Given the description of an element on the screen output the (x, y) to click on. 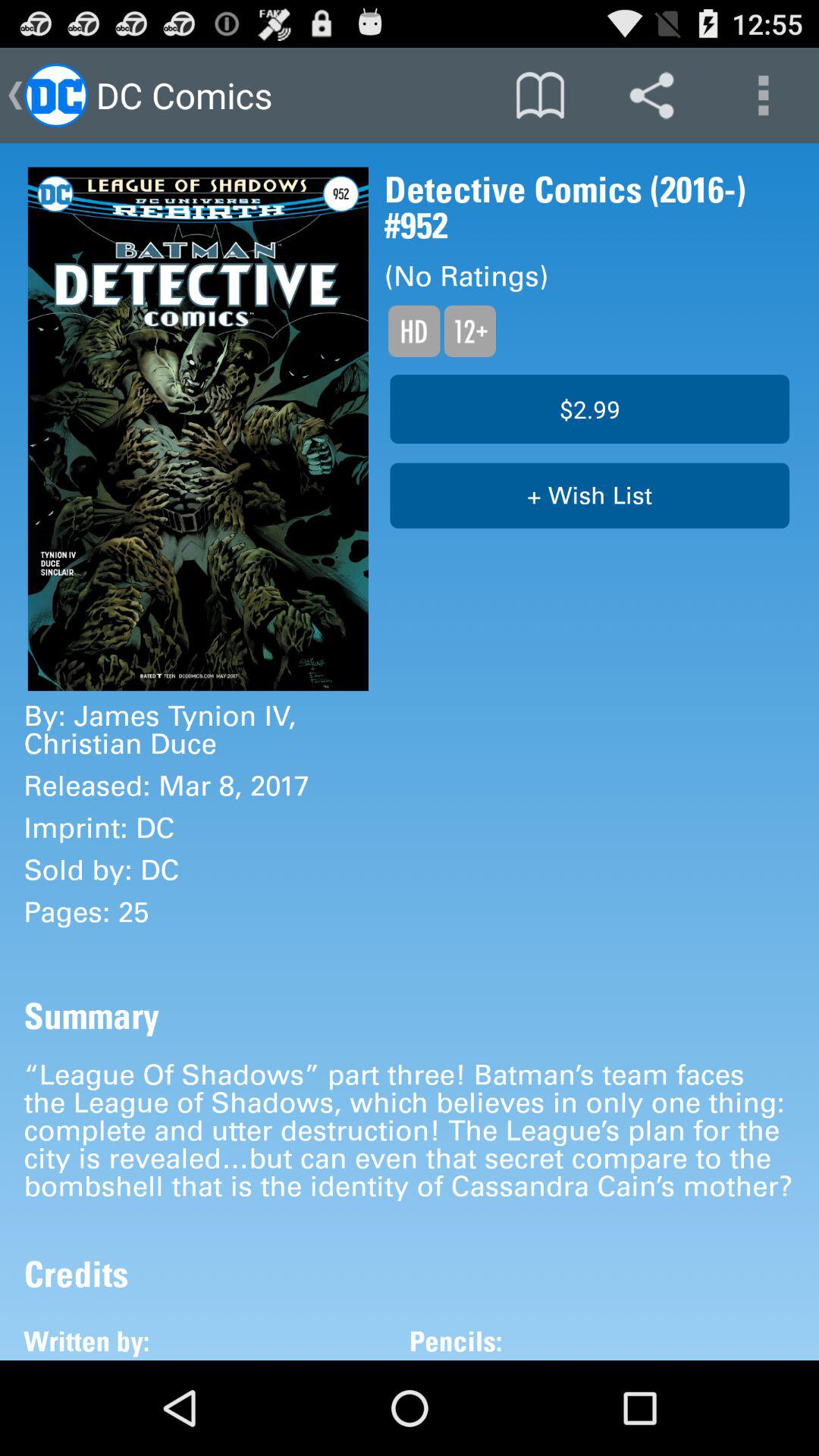
read the text below no ratings (440, 330)
click on the share icon (651, 95)
icon left to the header text (55, 95)
click on the option which is above  wish list (589, 409)
select the button which is above the button wish list (589, 413)
